Given the description of an element on the screen output the (x, y) to click on. 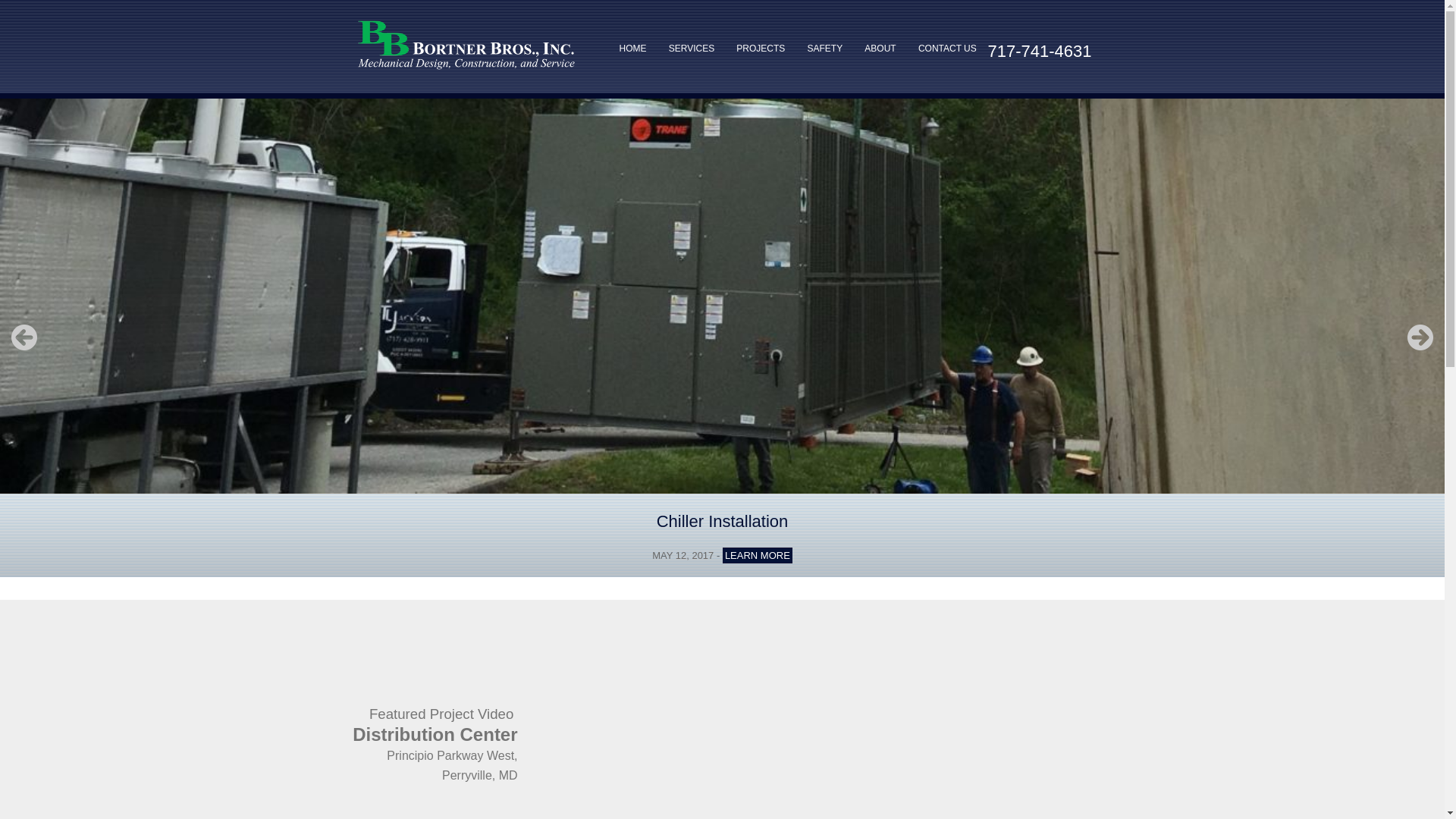
ABOUT (879, 48)
Bortner Bros., Inc. (465, 69)
PROJECTS (760, 48)
LEARN MORE (757, 555)
CONTACT US (947, 48)
SERVICES (691, 48)
HOME (632, 48)
SAFETY (824, 48)
Bortner Bros., Inc. (465, 43)
